Given the description of an element on the screen output the (x, y) to click on. 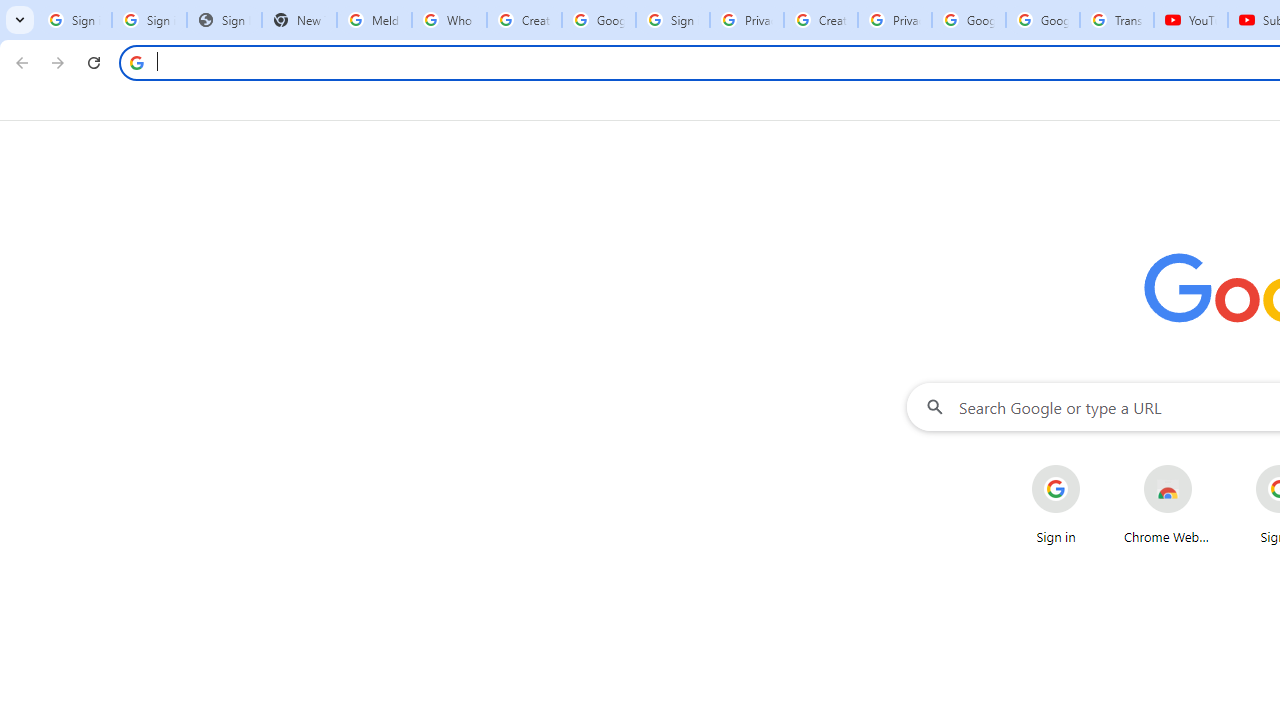
Create your Google Account (523, 20)
More actions for Sign in shortcut (1095, 466)
Sign in - Google Accounts (74, 20)
YouTube (1190, 20)
More actions for Chrome Web Store shortcut (1208, 466)
